Given the description of an element on the screen output the (x, y) to click on. 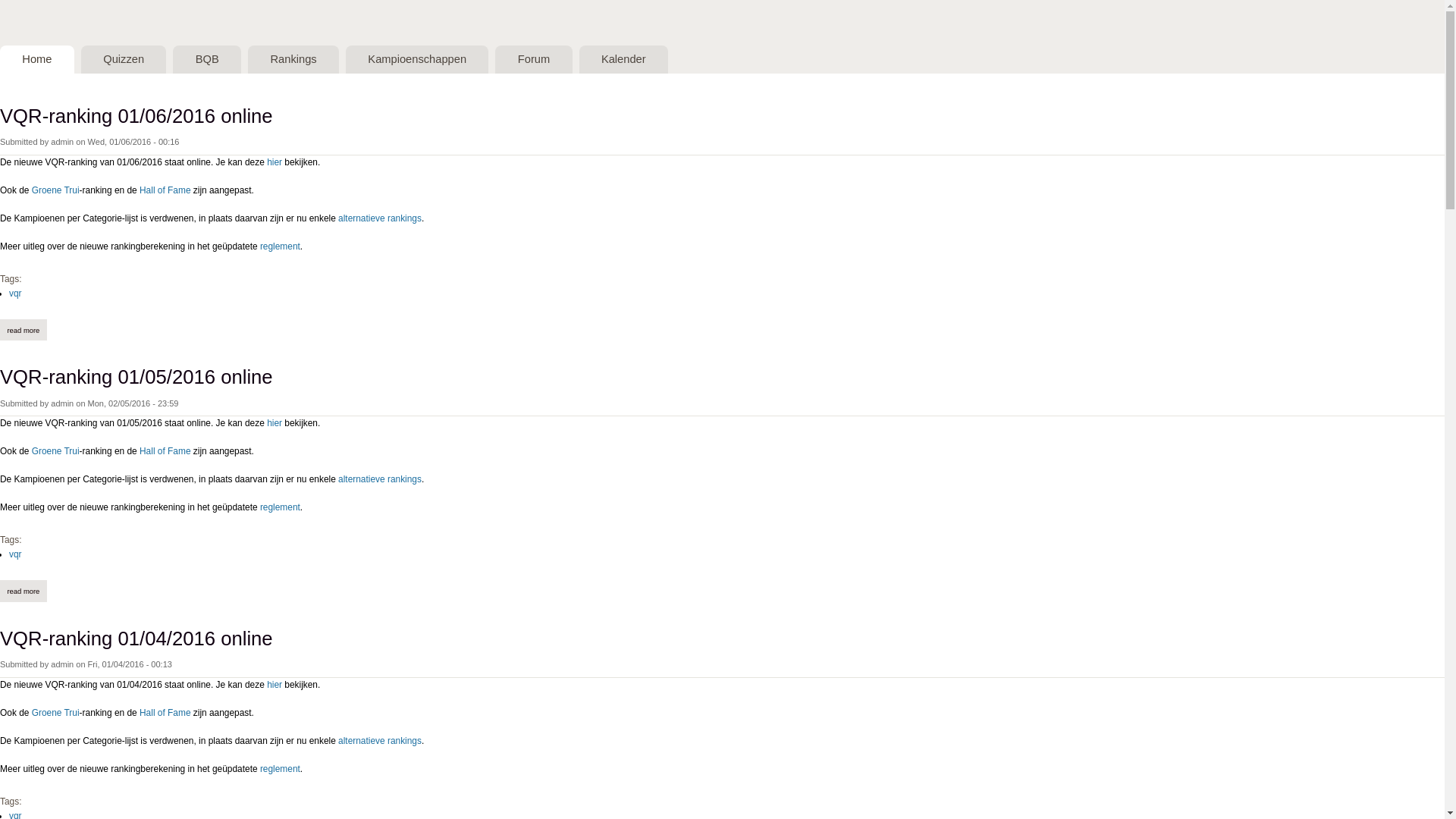
Kampioenschappen Element type: text (416, 59)
hier Element type: text (274, 422)
alternatieve rankings Element type: text (379, 218)
Hall of Fame Element type: text (165, 190)
Kalender Element type: text (623, 59)
alternatieve rankings Element type: text (379, 478)
Hall of Fame Element type: text (165, 712)
reglement Element type: text (280, 507)
VQR-ranking 01/04/2016 online Element type: text (136, 638)
vqr Element type: text (15, 554)
Quizzen Element type: text (123, 59)
Skip to main content Element type: text (708, 0)
reglement Element type: text (280, 246)
Groene Trui Element type: text (55, 450)
hier Element type: text (274, 684)
read more
about vqr-ranking 01/05/2016 online Element type: text (23, 590)
Rankings Element type: text (292, 59)
Hall of Fame Element type: text (165, 450)
vqr Element type: text (15, 293)
BQB Element type: text (206, 59)
Forum Element type: text (533, 59)
read more
about vqr-ranking 01/06/2016 online Element type: text (23, 329)
hier Element type: text (274, 161)
Home Element type: text (37, 59)
VQR-ranking 01/05/2016 online Element type: text (136, 376)
alternatieve rankings Element type: text (379, 740)
Groene Trui Element type: text (55, 190)
Groene Trui Element type: text (55, 712)
VQR-ranking 01/06/2016 online Element type: text (136, 115)
reglement Element type: text (280, 768)
